Given the description of an element on the screen output the (x, y) to click on. 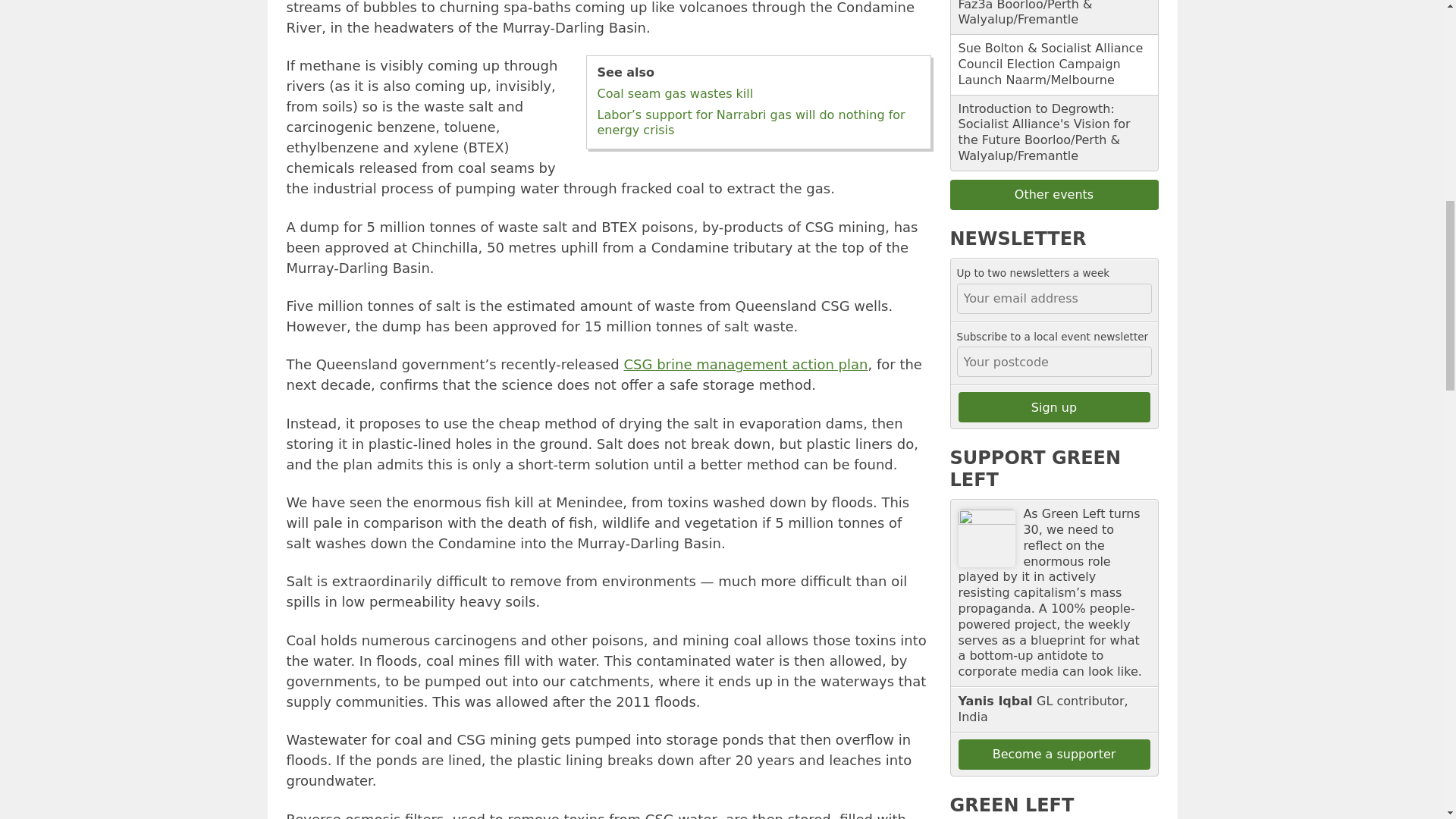
Sign up (1054, 407)
